Given the description of an element on the screen output the (x, y) to click on. 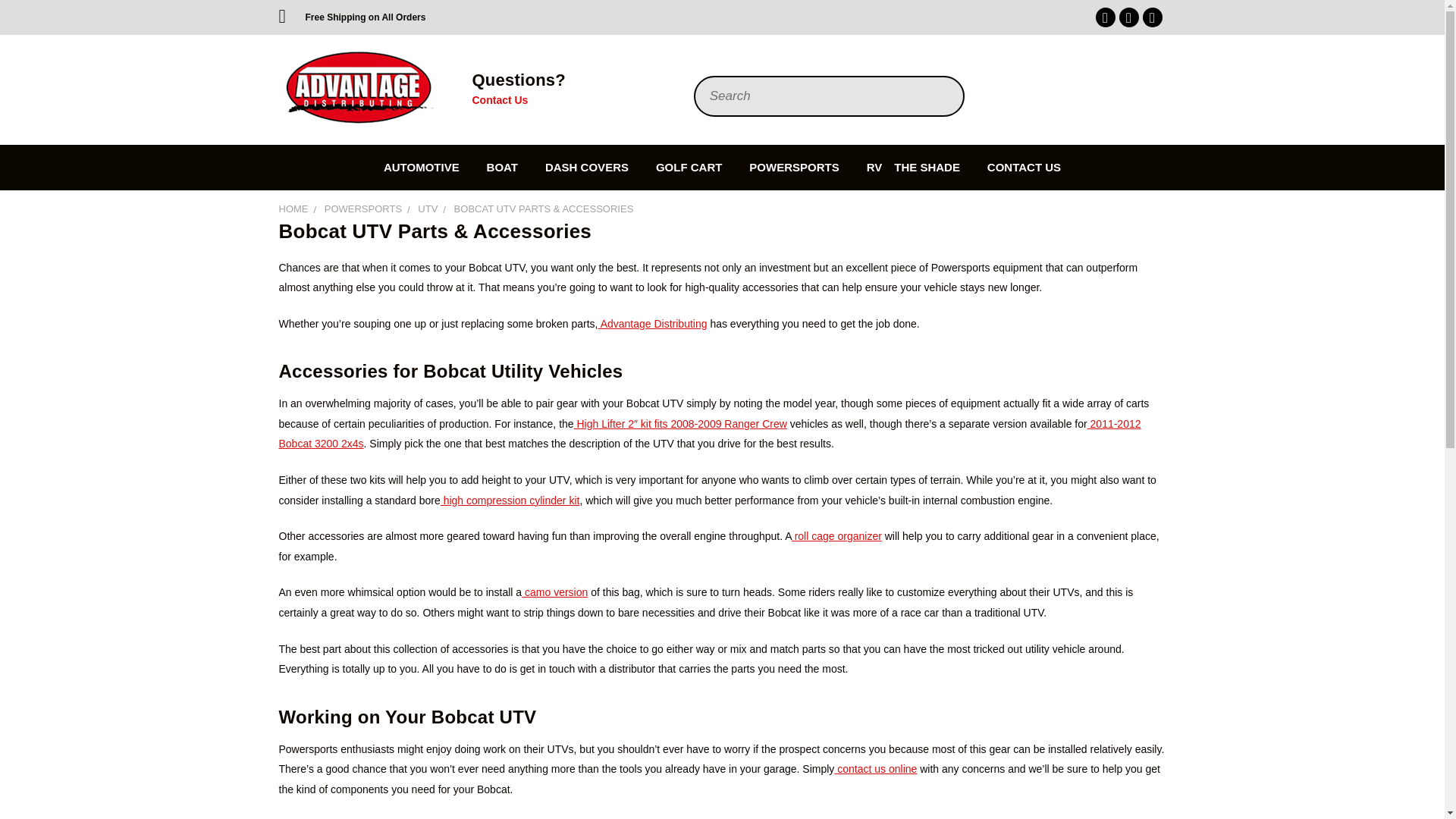
Gift Certificates (1112, 87)
Advantage Distributing (358, 87)
Cart (1150, 87)
User Toolbox (1081, 87)
Contact Us (499, 100)
Submit Search (945, 58)
